Given the description of an element on the screen output the (x, y) to click on. 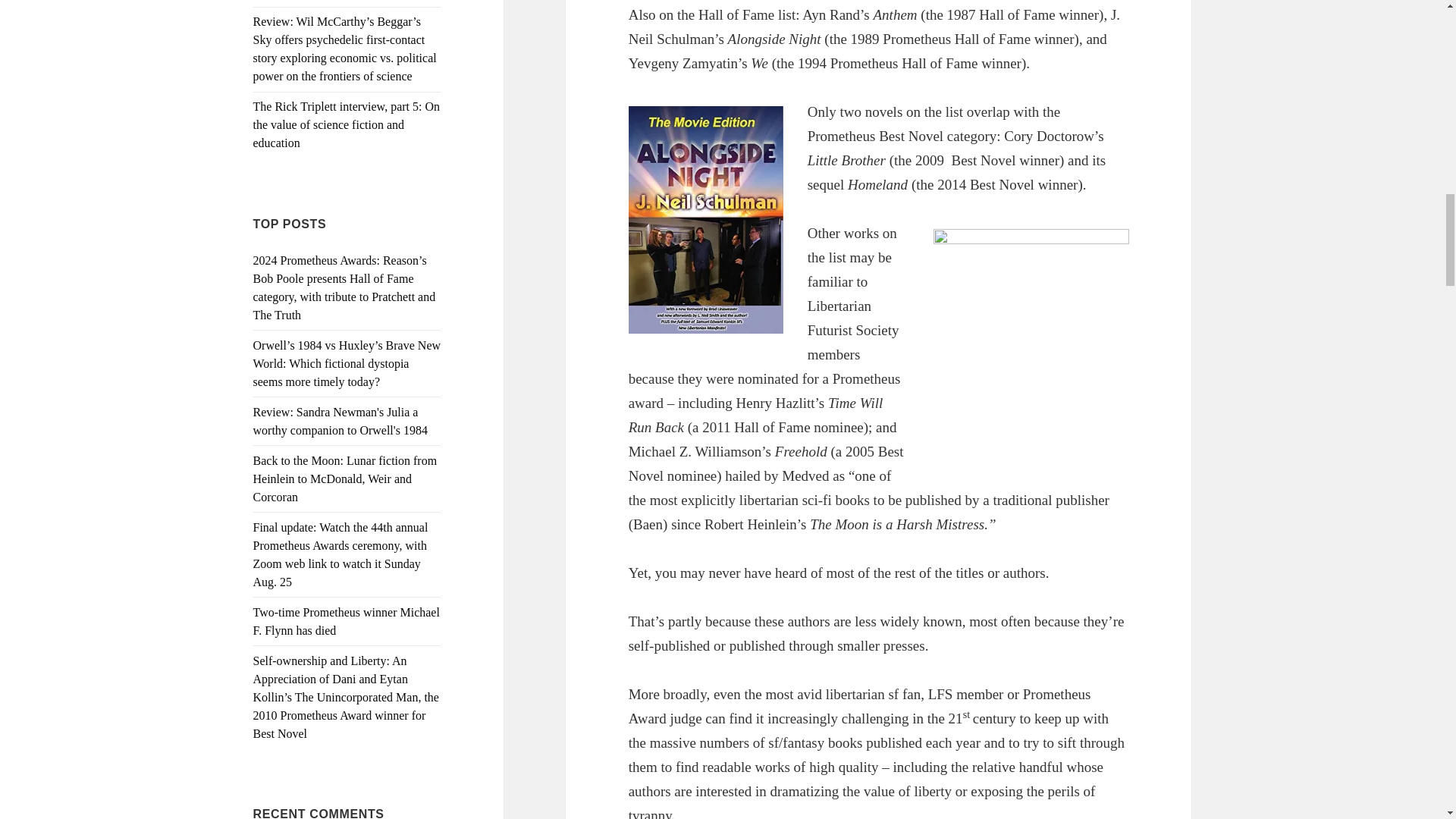
Two-time Prometheus winner Michael F. Flynn has died (346, 621)
